Given the description of an element on the screen output the (x, y) to click on. 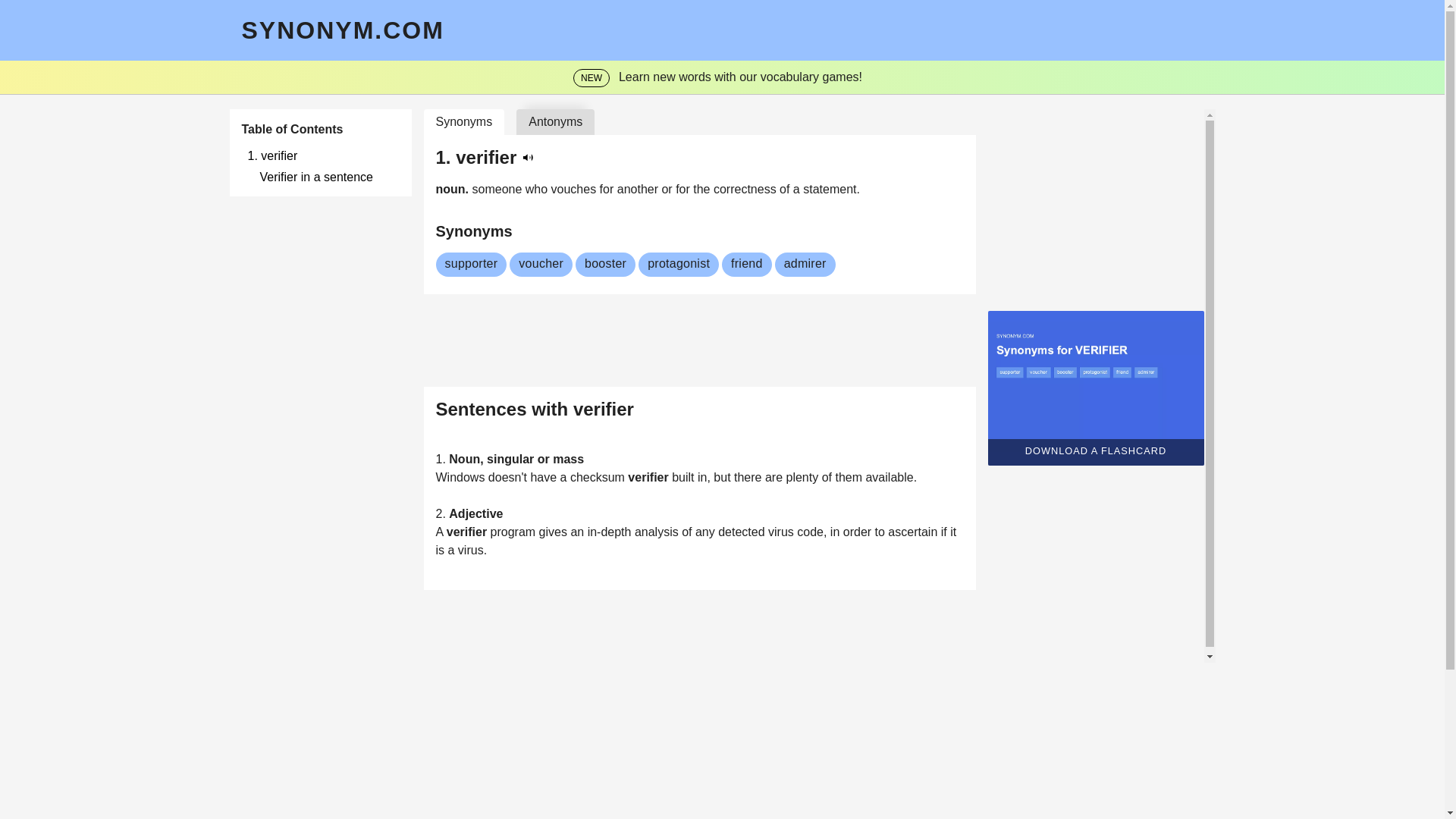
for (608, 188)
are (775, 477)
singular (511, 459)
protagonist (678, 264)
but (723, 477)
built (684, 477)
supporter (470, 264)
voucher (540, 264)
vouches (575, 188)
the (703, 188)
checksum (598, 477)
for (684, 188)
there (749, 477)
Windows (461, 477)
friend (746, 264)
